Given the description of an element on the screen output the (x, y) to click on. 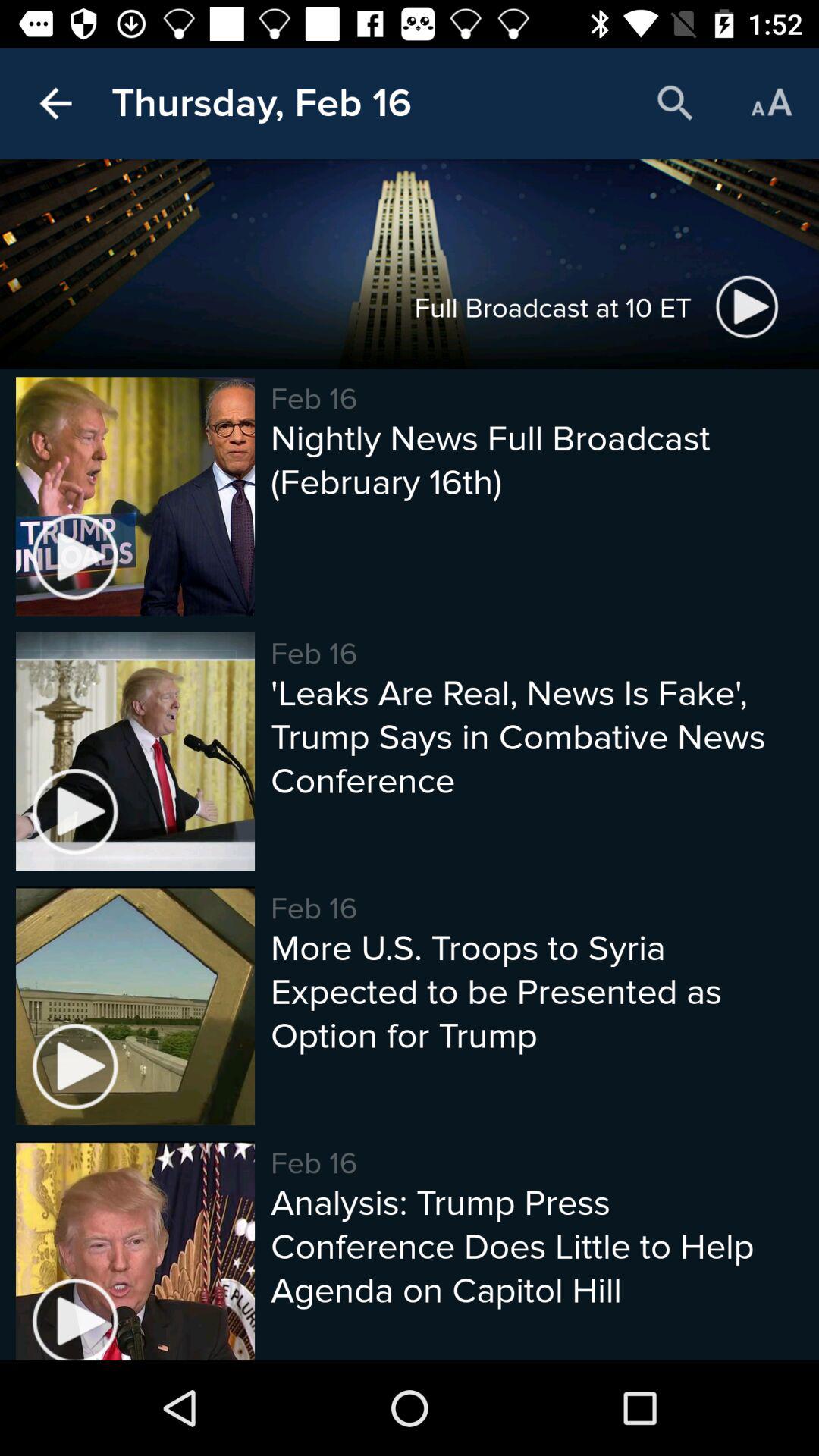
turn off icon to the right of thursday, feb 16 icon (675, 103)
